Given the description of an element on the screen output the (x, y) to click on. 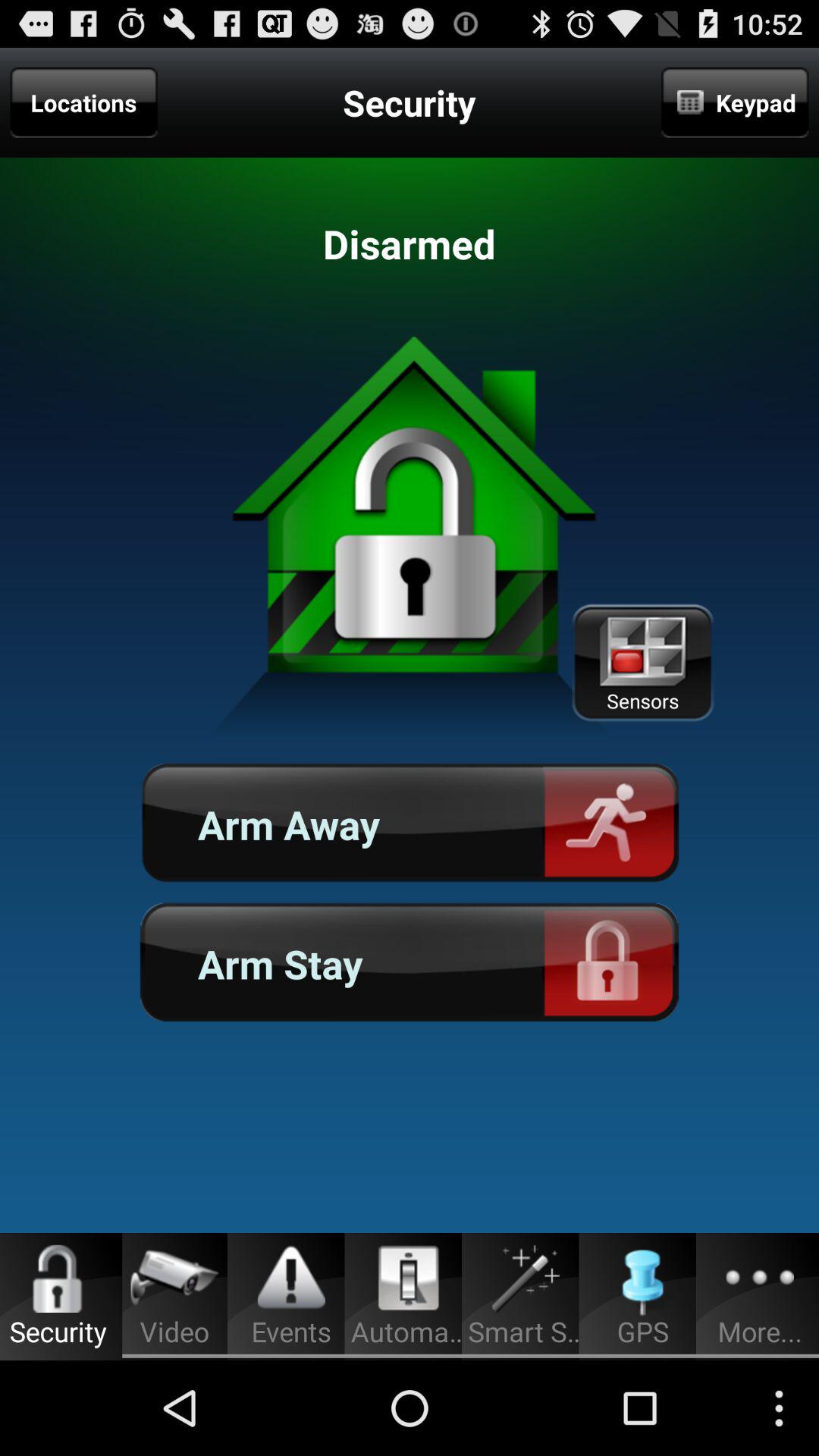
press the sensors on the right (642, 662)
